Given the description of an element on the screen output the (x, y) to click on. 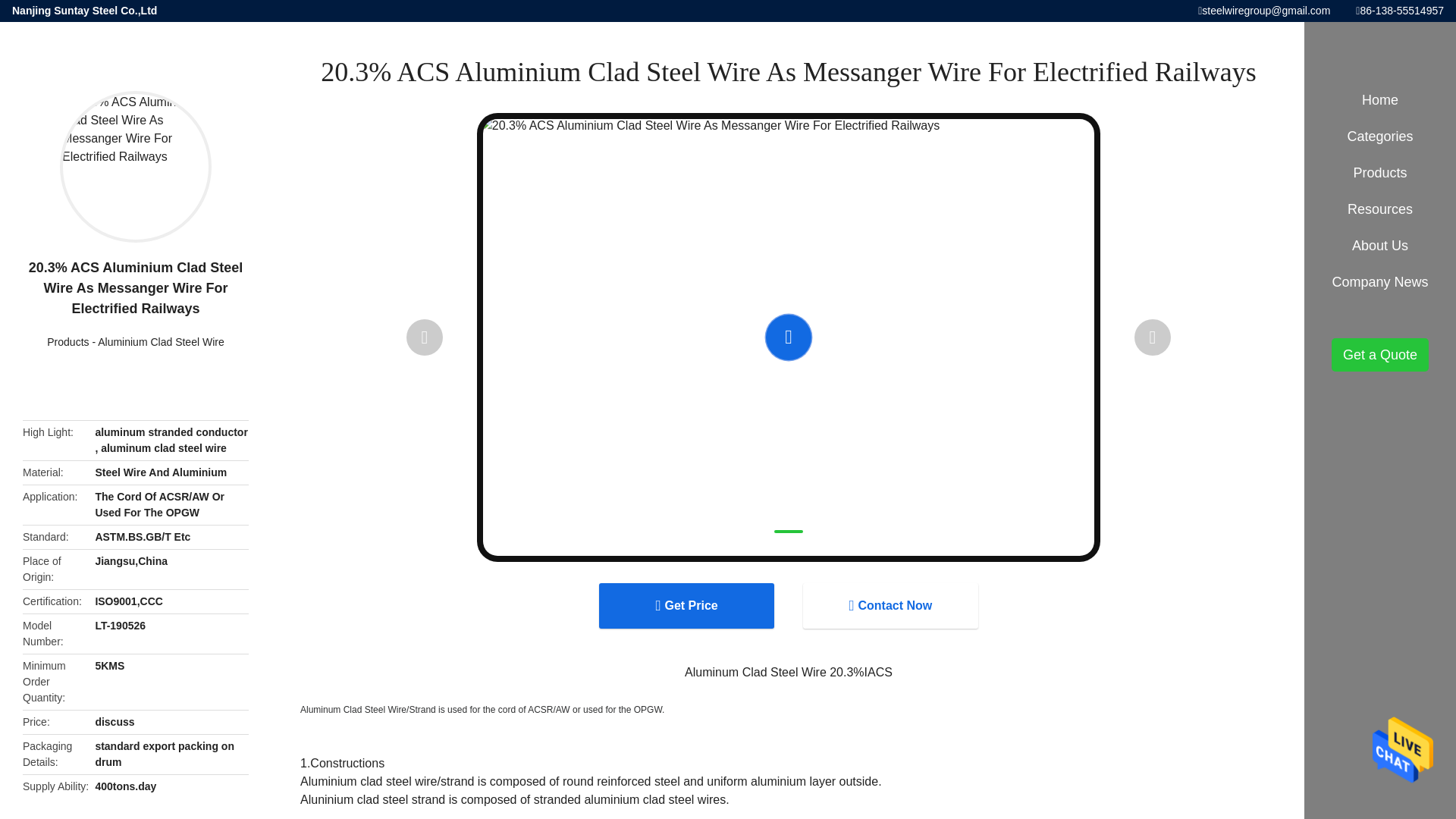
Home (1379, 99)
Home (1379, 99)
Categories (1379, 135)
Contact Now (889, 605)
Products (67, 341)
Products (67, 341)
Aluminium Clad Steel Wire (160, 341)
Categories (1379, 135)
China Aluminium Clad Steel Wire Manufacturers (160, 341)
Get Price (685, 605)
